Given the description of an element on the screen output the (x, y) to click on. 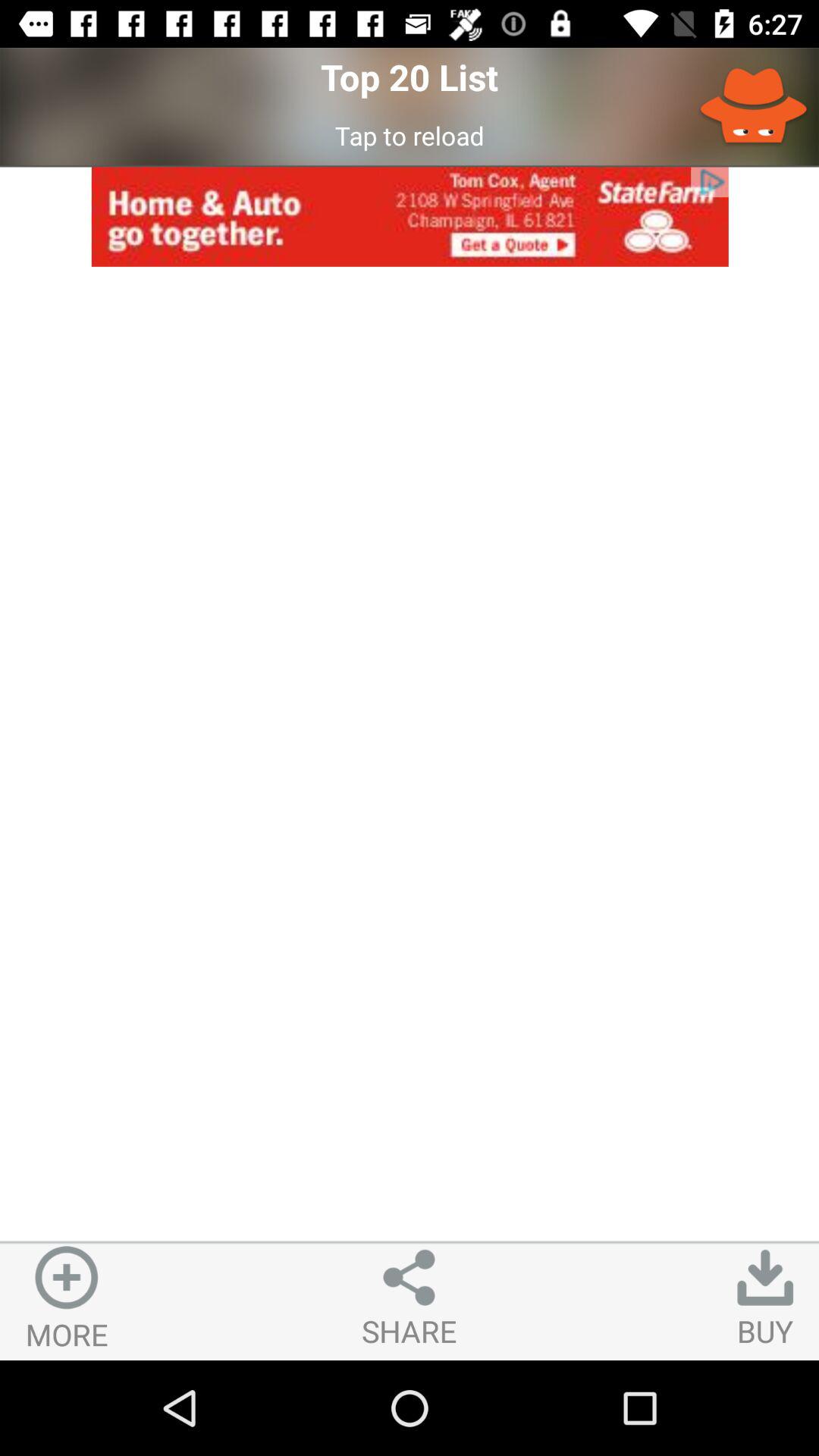
launch tap to reload item (409, 135)
